Given the description of an element on the screen output the (x, y) to click on. 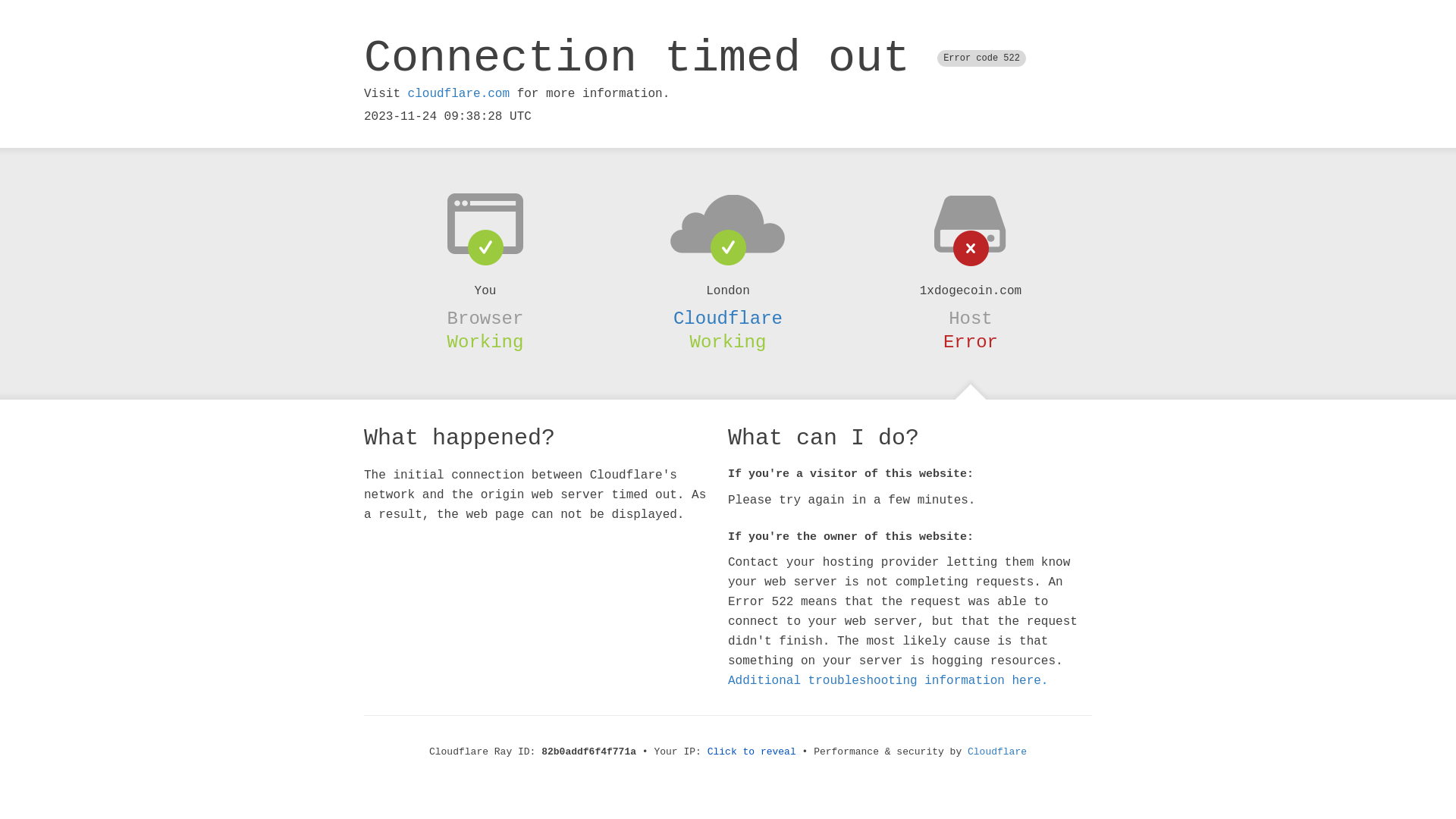
Cloudflare Element type: text (996, 751)
Click to reveal Element type: text (751, 751)
cloudflare.com Element type: text (458, 93)
Cloudflare Element type: text (727, 318)
Additional troubleshooting information here. Element type: text (888, 680)
